Given the description of an element on the screen output the (x, y) to click on. 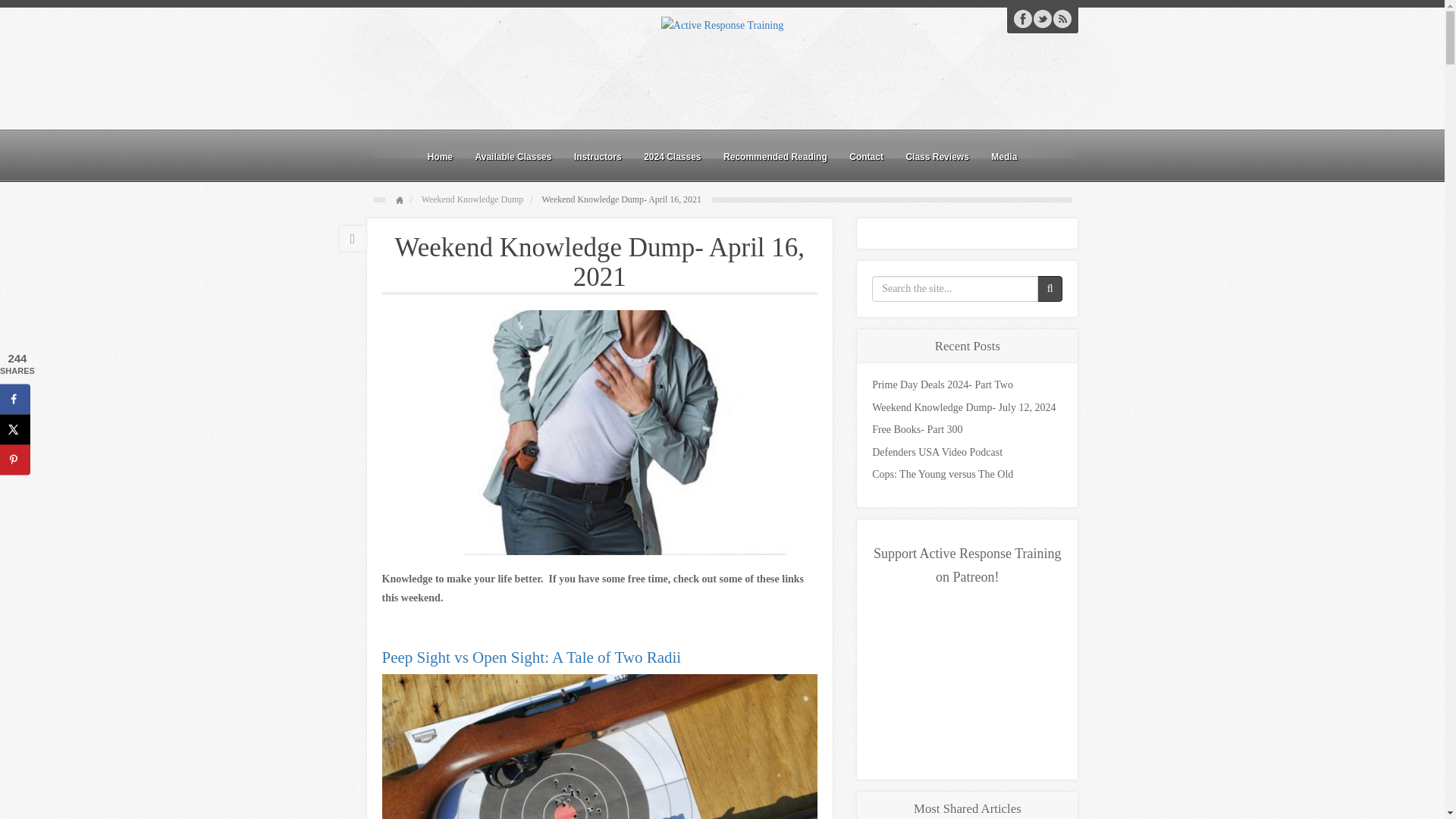
Facebook (1021, 18)
Contact (866, 156)
Twitter (1041, 18)
Peep Sight vs Open Sight: A Tale of Two Radii (531, 657)
Instructors (597, 156)
RSS (1061, 18)
Class Reviews (936, 156)
Weekend Knowledge Dump (472, 199)
Weekend Knowledge Dump (472, 199)
RSS (1061, 18)
Active Response Training (722, 24)
Home (440, 156)
Recommended Reading (775, 156)
Facebook (1021, 18)
Available Classes (513, 156)
